Given the description of an element on the screen output the (x, y) to click on. 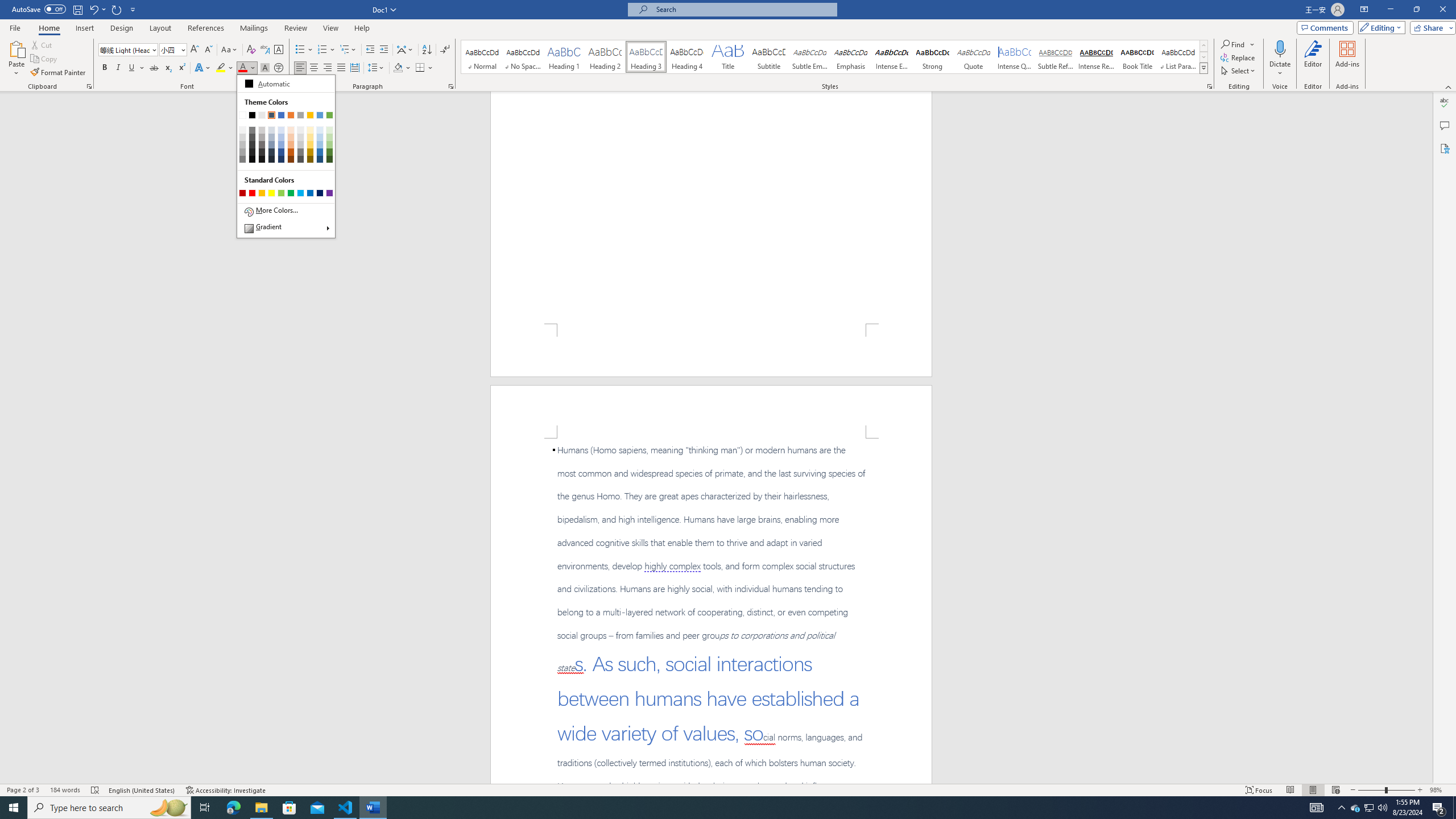
Show desktop (1454, 807)
Borders (424, 67)
Bold (104, 67)
Microsoft Store (289, 807)
Subtle Reference (1055, 56)
Select (1238, 69)
Font (128, 49)
Office Clipboard... (88, 85)
Line and Paragraph Spacing (376, 67)
Start (1355, 807)
Text Effects and Typography (13, 807)
Notification Chevron (202, 67)
Close (1341, 807)
